Given the description of an element on the screen output the (x, y) to click on. 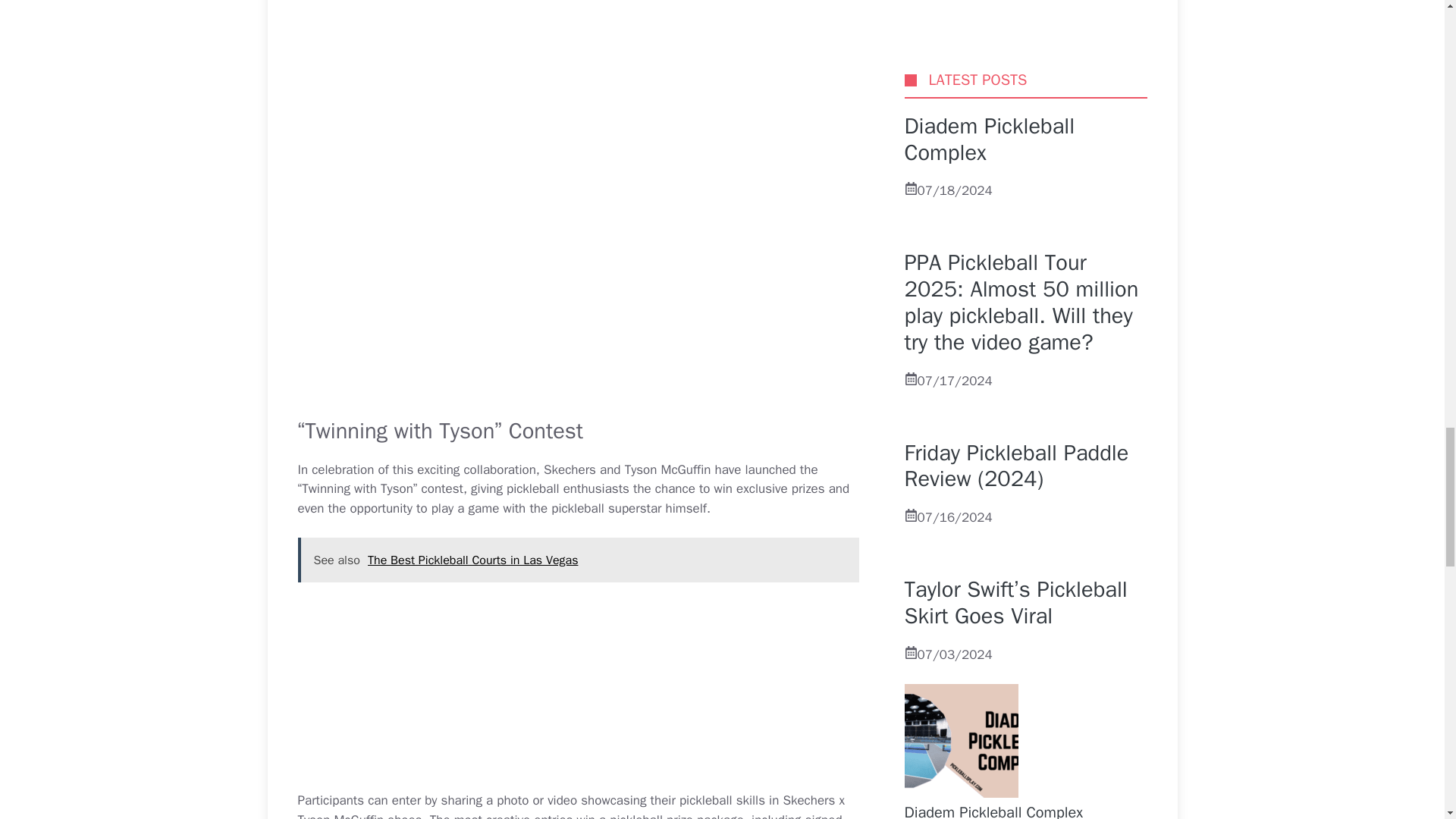
See also  The Best Pickleball Courts in Las Vegas (578, 560)
